Given the description of an element on the screen output the (x, y) to click on. 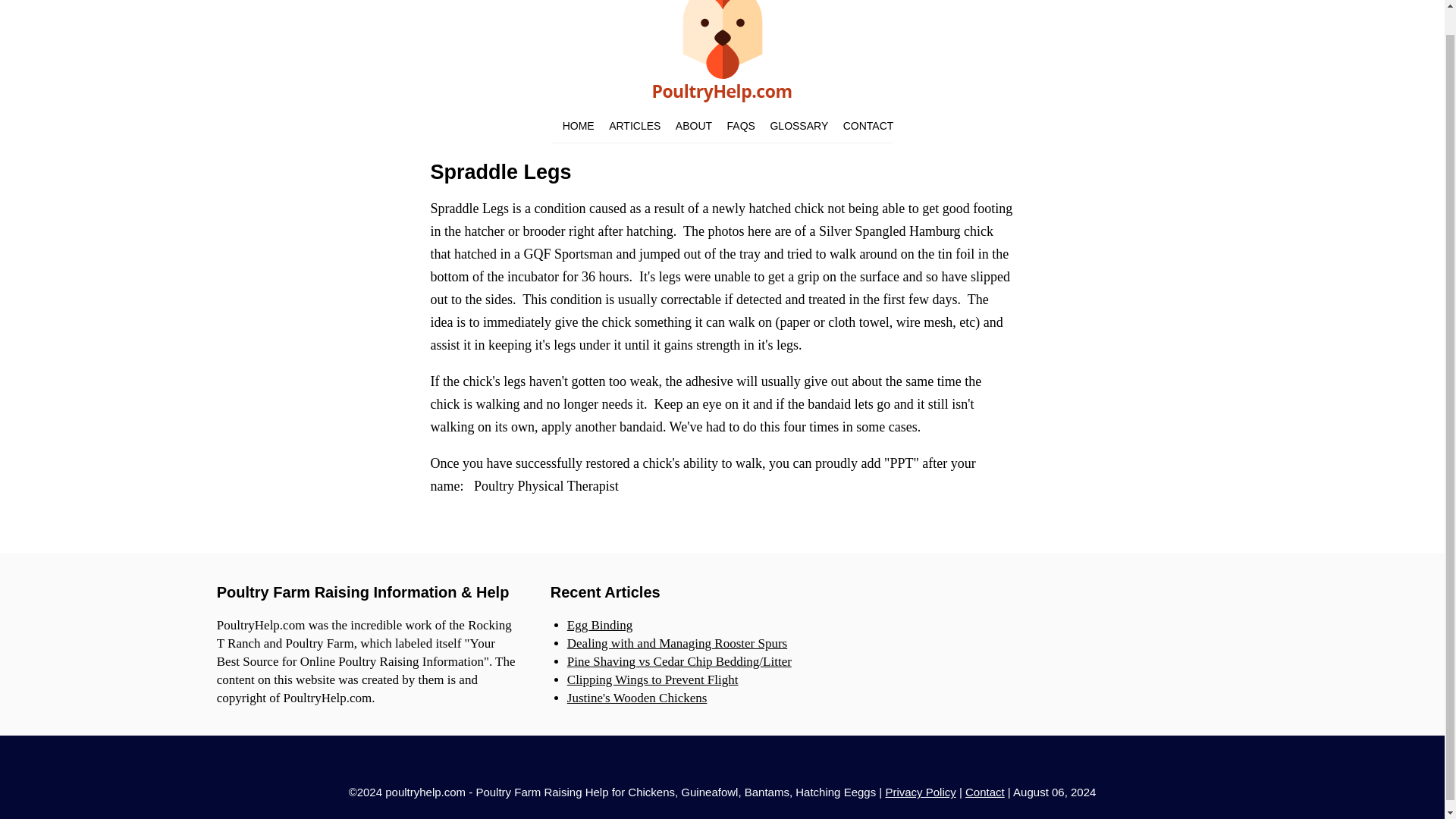
Privacy Policy (920, 791)
GLOSSARY (799, 125)
ARTICLES (634, 125)
Contact (984, 791)
CONTACT (868, 125)
Clipping Wings to Prevent Flight (652, 679)
Dealing with and Managing Rooster Spurs (677, 643)
HOME (578, 125)
ABOUT (693, 125)
Egg Binding (599, 625)
